Given the description of an element on the screen output the (x, y) to click on. 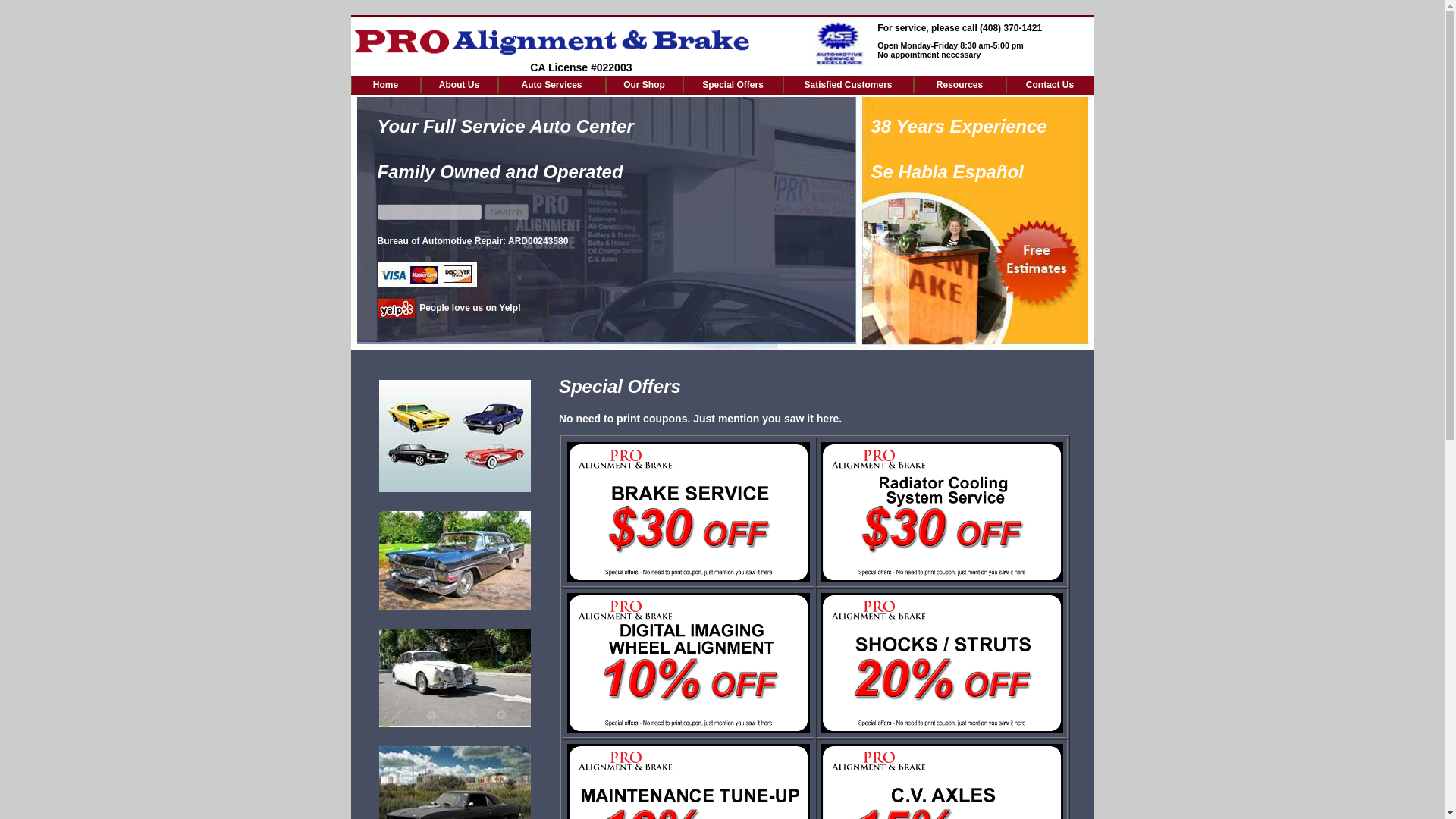
Resources (960, 84)
Auto Services (552, 84)
About Us (459, 84)
Special Offers (733, 84)
Search (505, 211)
Satisfied Customers (848, 84)
Resources (960, 84)
Our Shop (644, 84)
Home Page (386, 84)
Search (505, 211)
Home (386, 84)
Special Offers (733, 84)
Our Shop (644, 84)
Satisfied Customers (848, 84)
Contact Us (1050, 84)
